Given the description of an element on the screen output the (x, y) to click on. 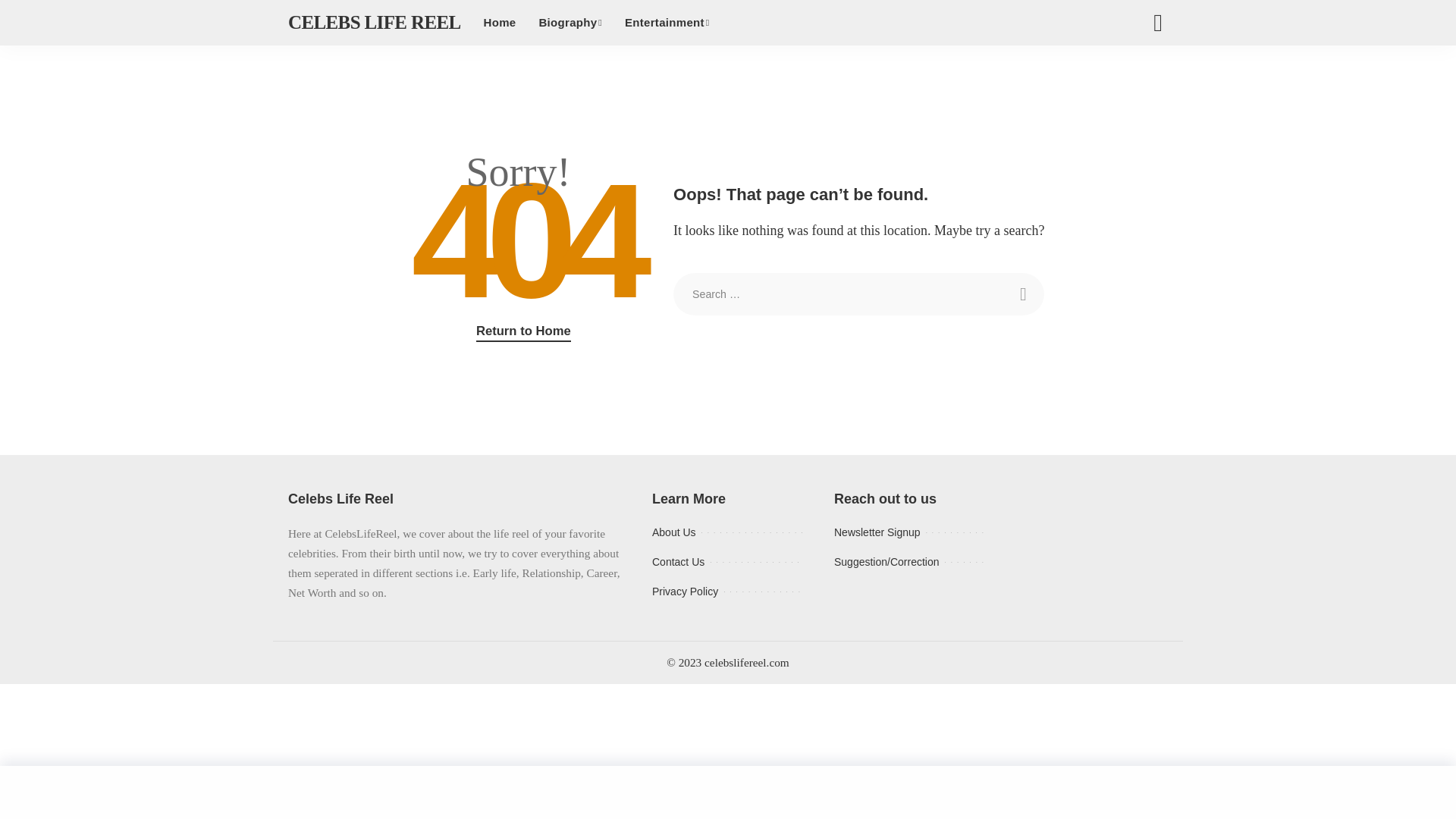
CELEBS LIFE REEL (374, 22)
Biography (569, 22)
Search (1022, 293)
Search (1022, 293)
Home (499, 22)
Entertainment (666, 22)
CELEBS LIFE REEL (374, 22)
Return to Home (523, 331)
Search (1157, 22)
